Given the description of an element on the screen output the (x, y) to click on. 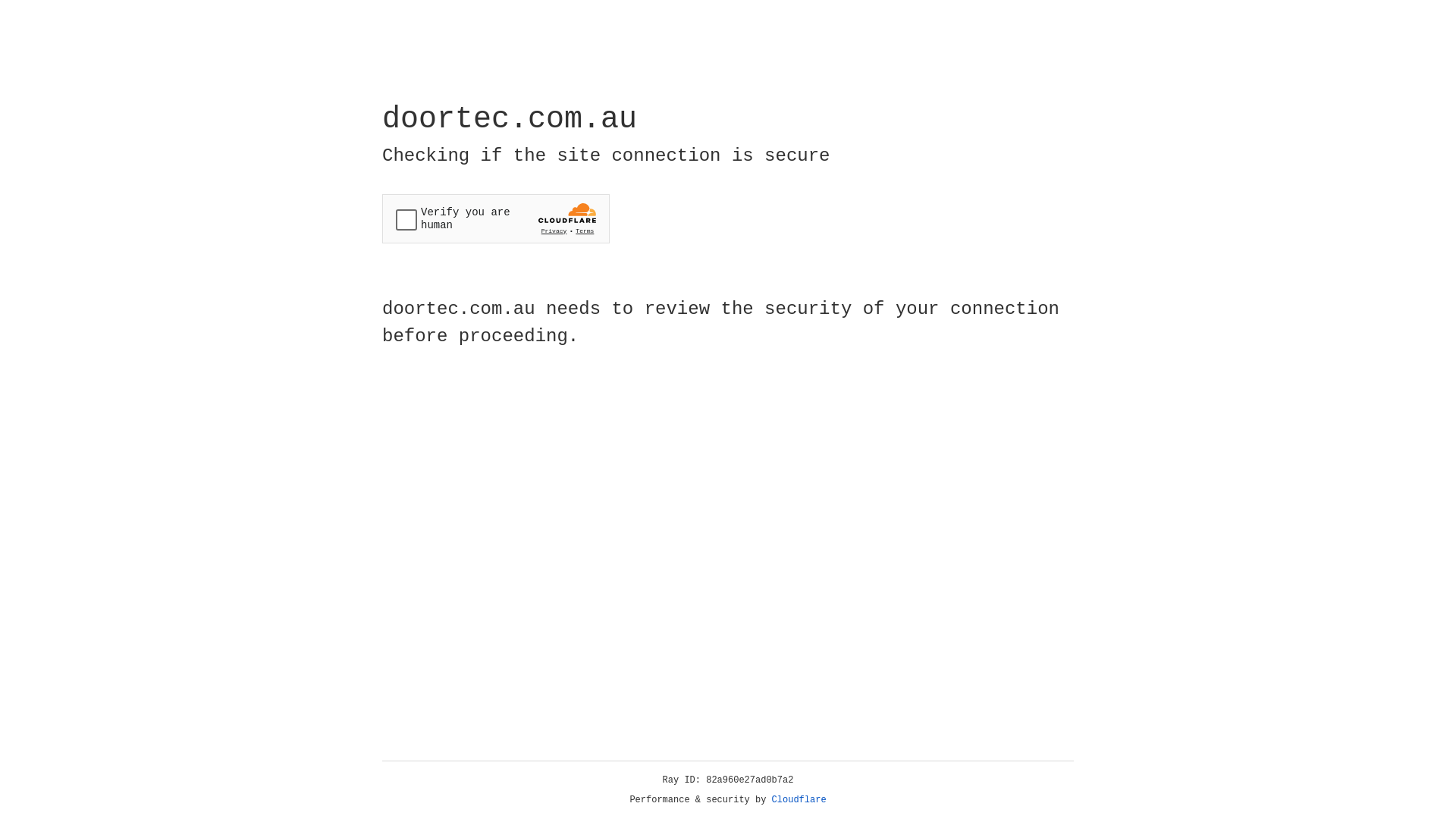
Widget containing a Cloudflare security challenge Element type: hover (495, 218)
Cloudflare Element type: text (798, 799)
